Given the description of an element on the screen output the (x, y) to click on. 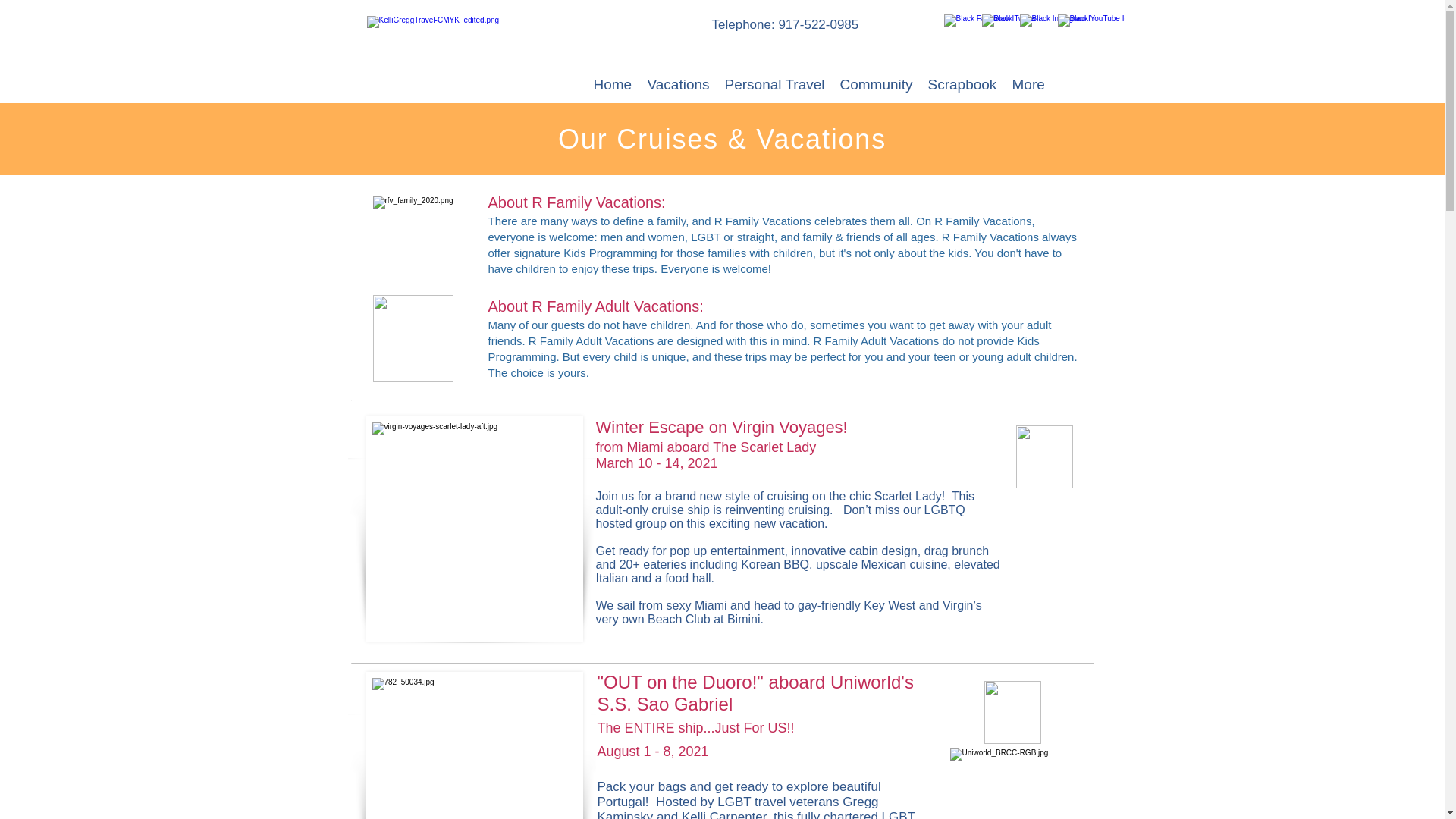
Home (612, 84)
Scrapbook (962, 84)
Vacations (678, 84)
Community (876, 84)
r family horizontal.jpg (438, 45)
Personal Travel (774, 84)
